Given the description of an element on the screen output the (x, y) to click on. 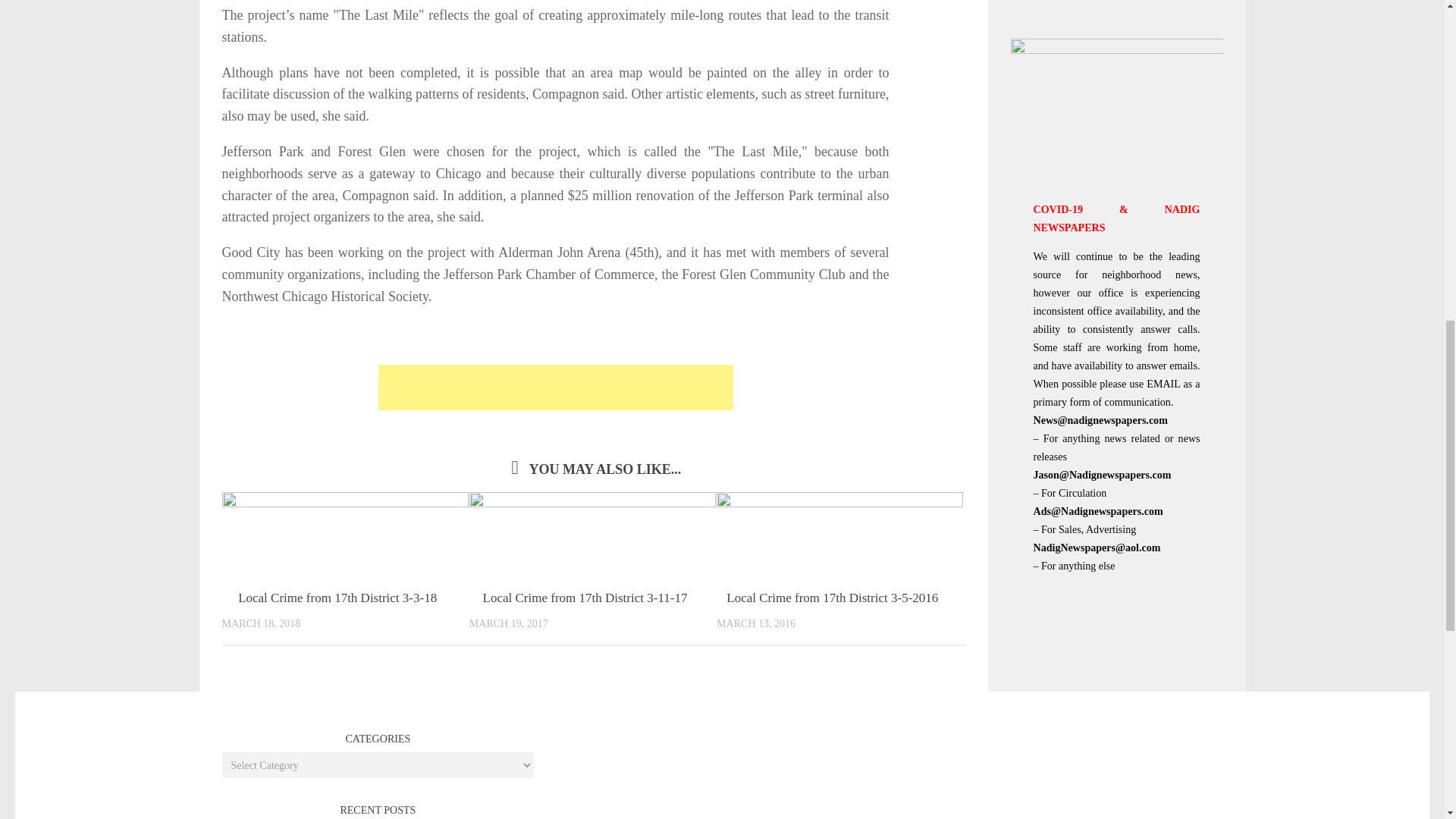
Local Crime from 17th District 3-5-2016 (831, 597)
Local Crime from 17th District 3-3-18 (337, 597)
Local Crime from 17th District 3-11-17 (585, 597)
